Given the description of an element on the screen output the (x, y) to click on. 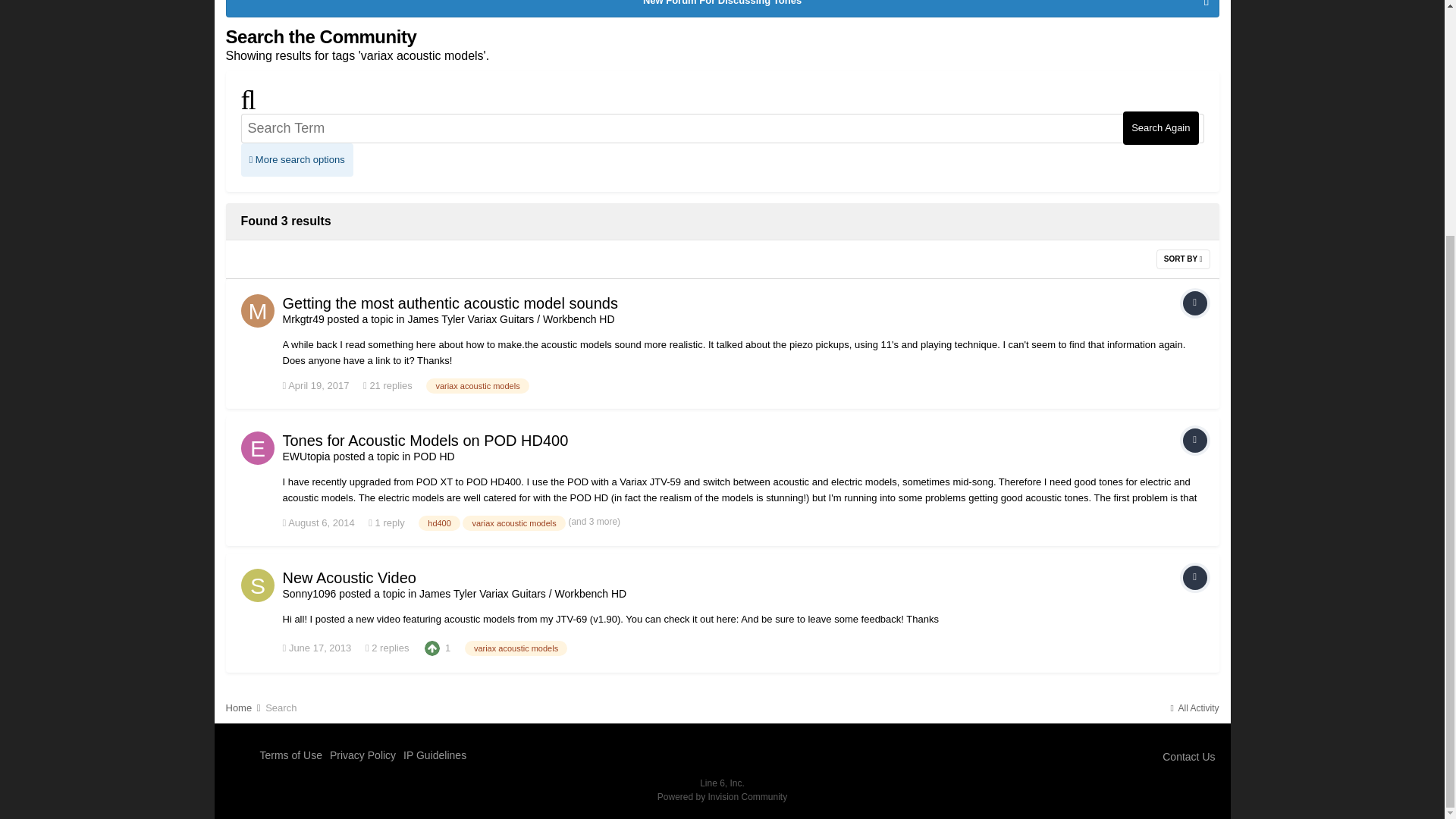
More search options (297, 159)
New Forum For Discussing Tones (721, 8)
Go to EWUtopia's profile (306, 456)
Go to Mrkgtr49's profile (302, 318)
Topic (1194, 303)
Find other content tagged with 'variax acoustic models' (477, 385)
Search Again (1160, 127)
Find other content tagged with 'hd400' (439, 522)
Go to Mrkgtr49's profile (258, 310)
Go to EWUtopia's profile (258, 448)
